Given the description of an element on the screen output the (x, y) to click on. 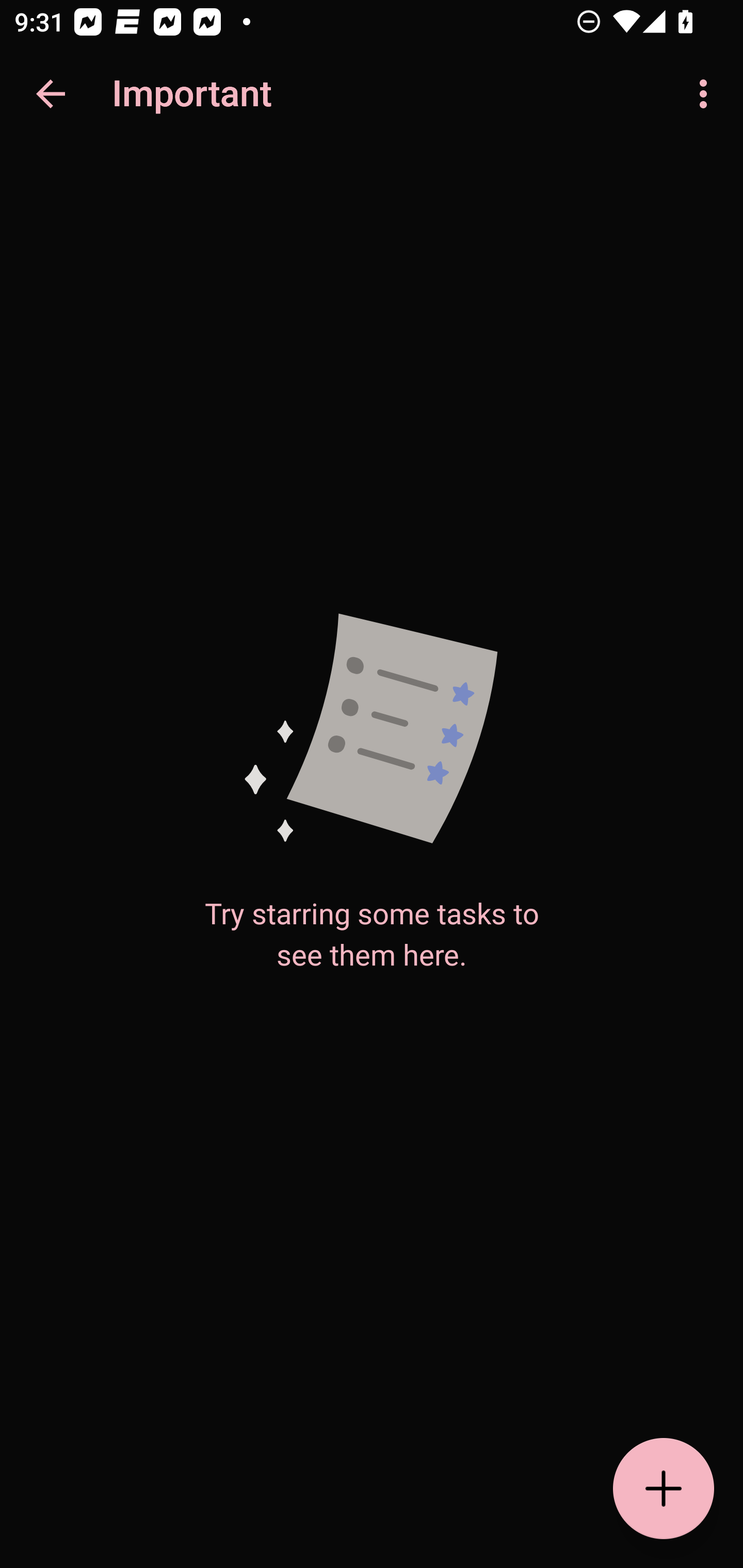
Back (50, 93)
testappium002@outlook.com Enter search (185, 93)
More options (706, 93)
Add a task (663, 1488)
